Given the description of an element on the screen output the (x, y) to click on. 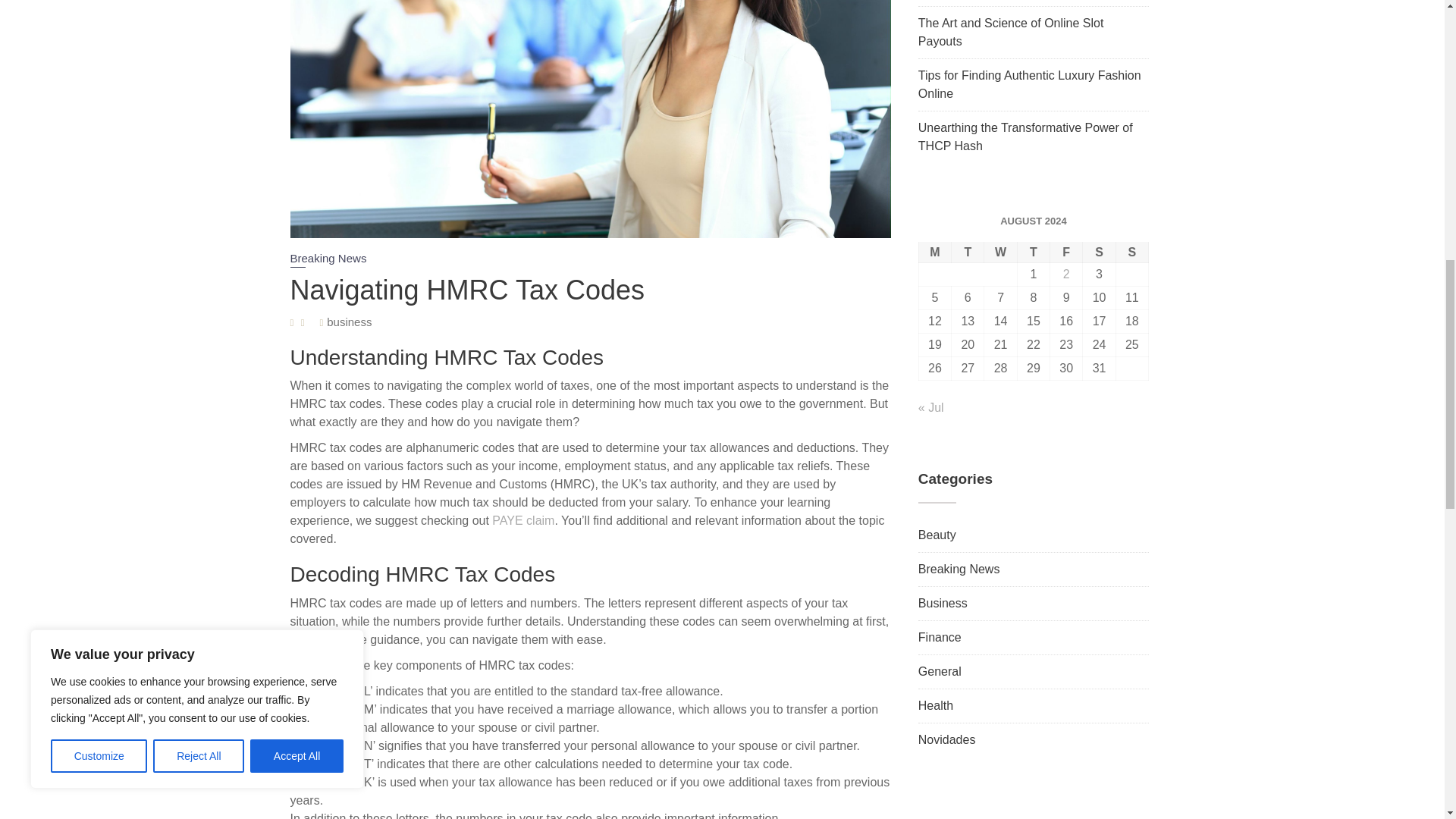
Sunday (1131, 252)
Thursday (1032, 252)
Friday (1066, 252)
PAYE claim (523, 520)
Wednesday (1000, 252)
Monday (934, 252)
Tips for Finding Authentic Luxury Fashion Online (1029, 83)
business (348, 321)
Saturday (1099, 252)
Breaking News (327, 259)
